Given the description of an element on the screen output the (x, y) to click on. 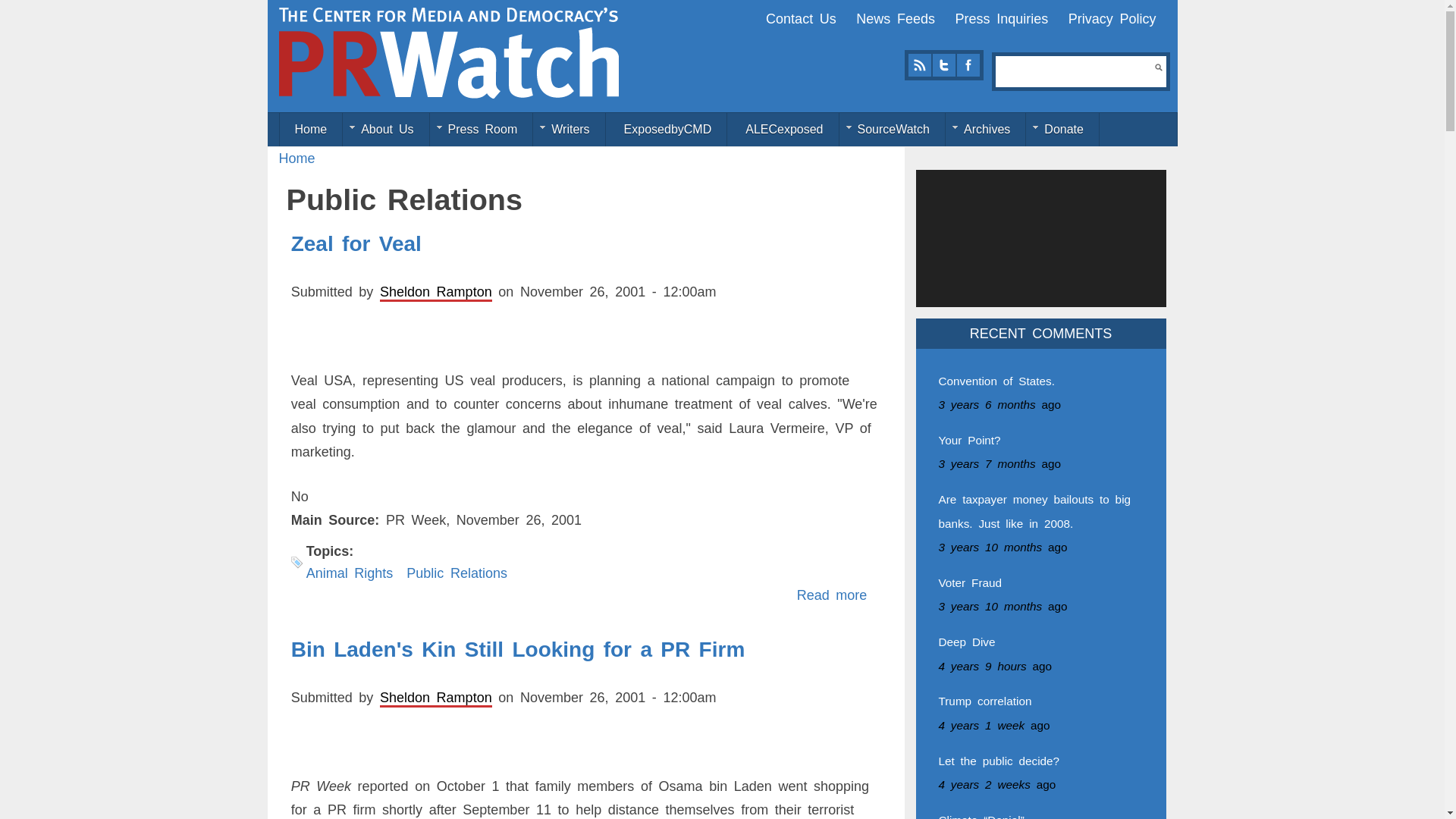
Subscribe to CMD's RSS Feeds (919, 64)
News Feeds (895, 18)
Press Inquiries (1001, 18)
Enter the terms you wish to search for. (1074, 71)
Sheldon Rampton (436, 697)
Follow CMD's Posts on Twitter (943, 64)
Public Relations (456, 572)
Privacy Policy (831, 595)
Sheldon Rampton (1112, 18)
